Given the description of an element on the screen output the (x, y) to click on. 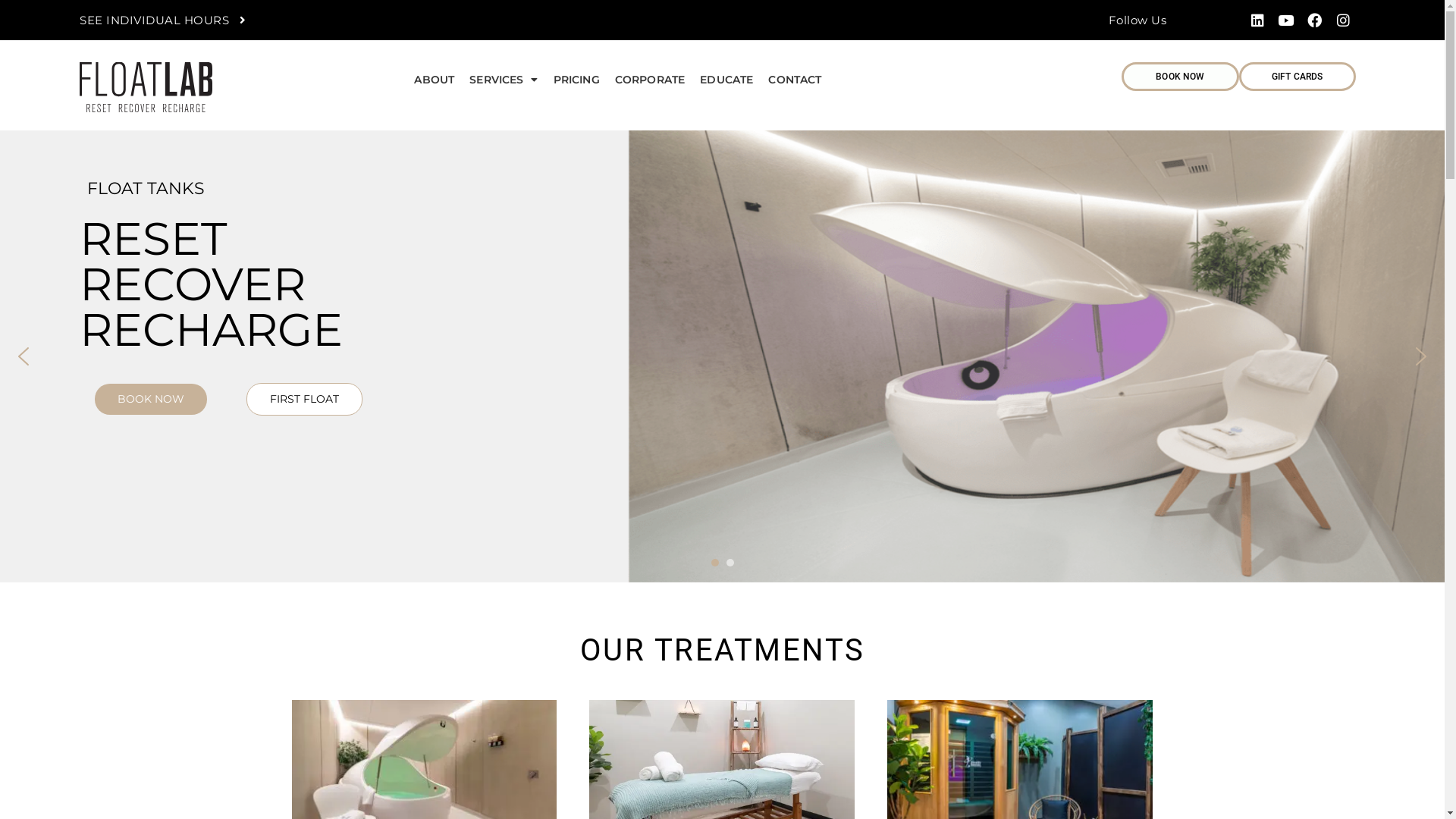
GIFT CARDS Element type: text (1297, 76)
Home Element type: hover (1420, 356)
FIRST FLOAT Element type: text (304, 398)
CONTACT Element type: text (794, 79)
SERVICES Element type: text (503, 79)
BOOK NOW Element type: text (150, 398)
CORPORATE Element type: text (649, 79)
PRICING Element type: text (576, 79)
BOOK NOW Element type: text (1179, 76)
ABOUT Element type: text (433, 79)
Home Element type: hover (722, 355)
SEE INDIVIDUAL HOURS   Element type: text (162, 19)
Home Element type: hover (23, 356)
EDUCATE Element type: text (726, 79)
